Given the description of an element on the screen output the (x, y) to click on. 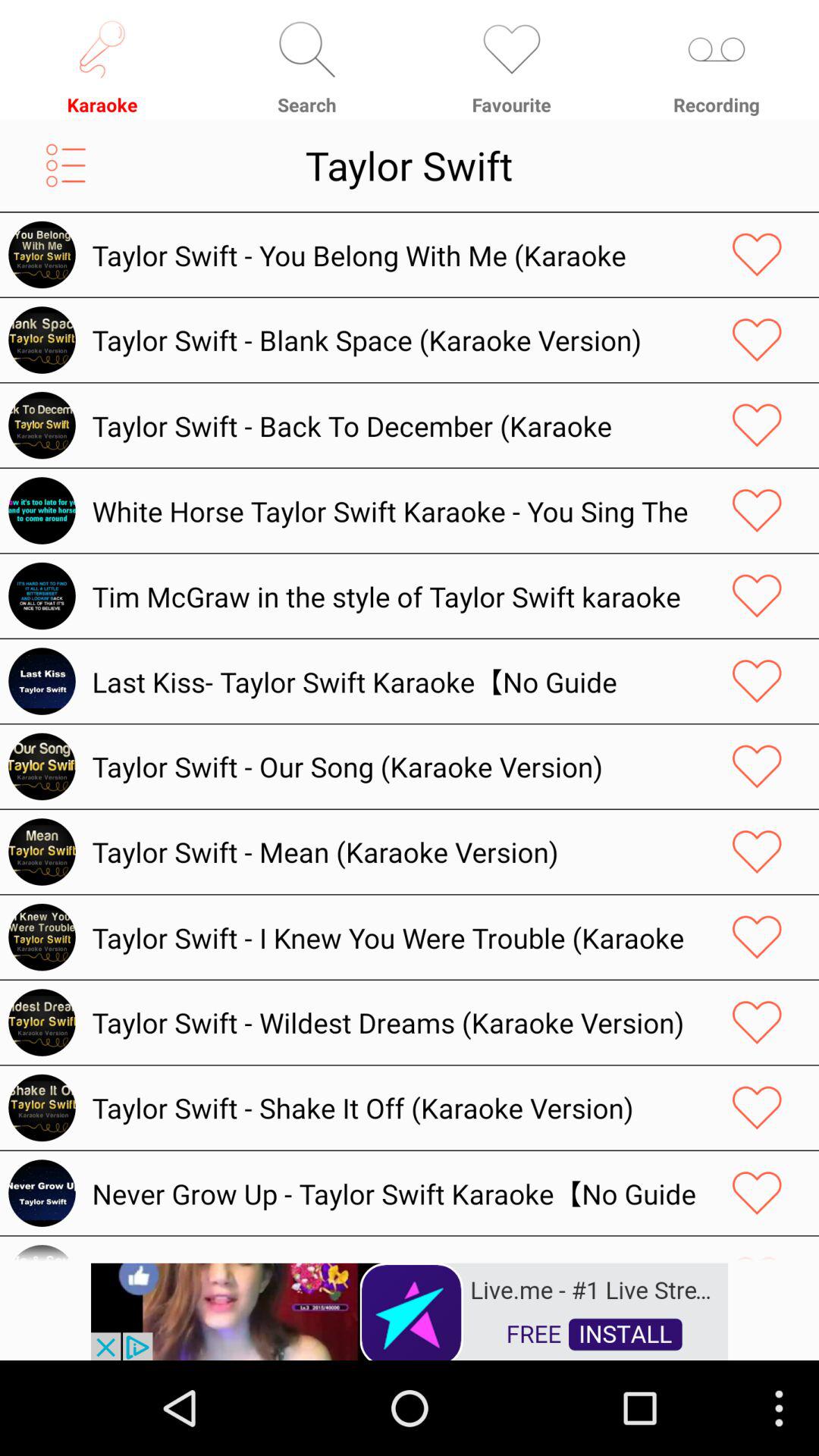
advertisement (409, 1310)
